Given the description of an element on the screen output the (x, y) to click on. 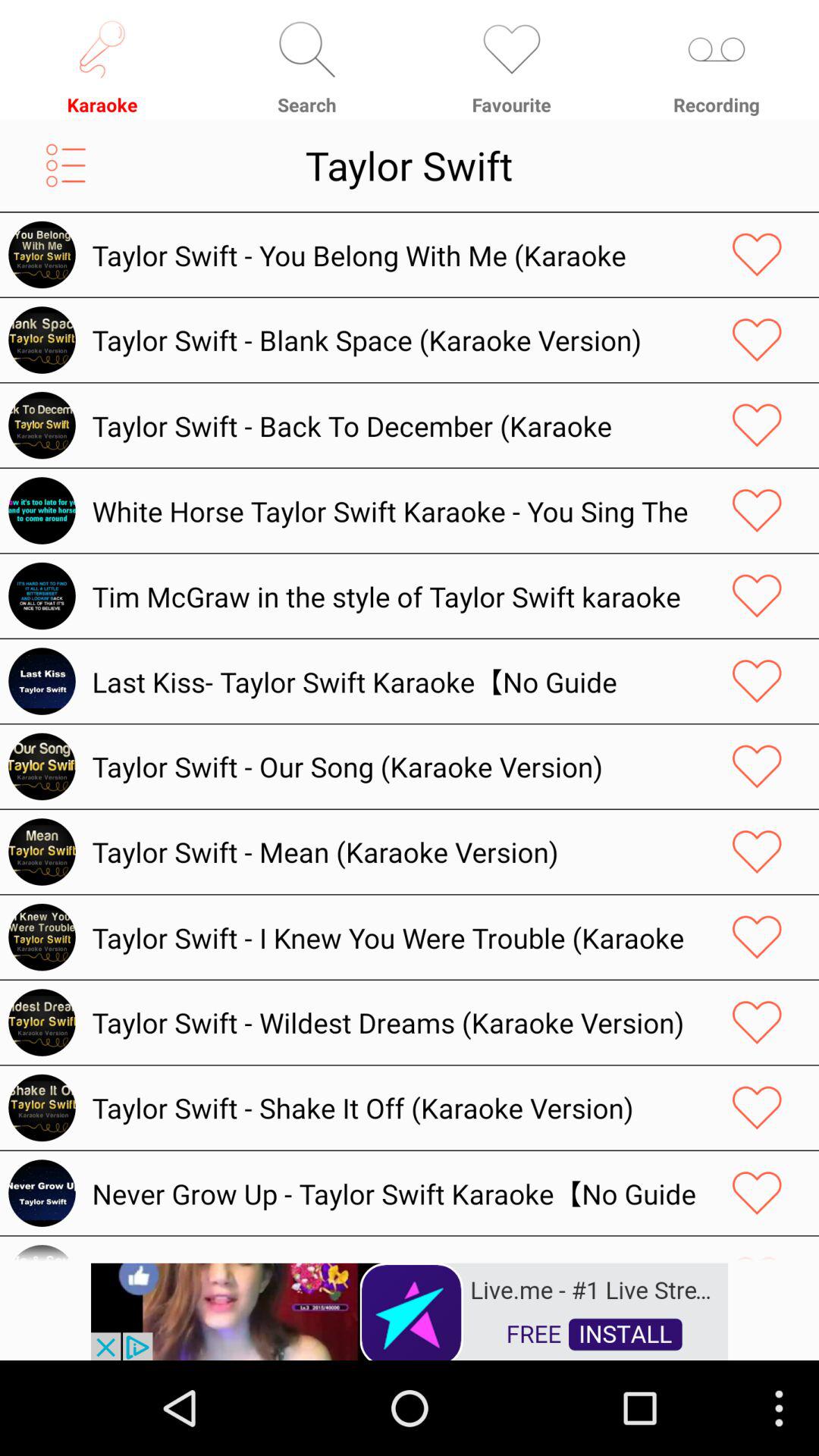
advertisement (409, 1310)
